Given the description of an element on the screen output the (x, y) to click on. 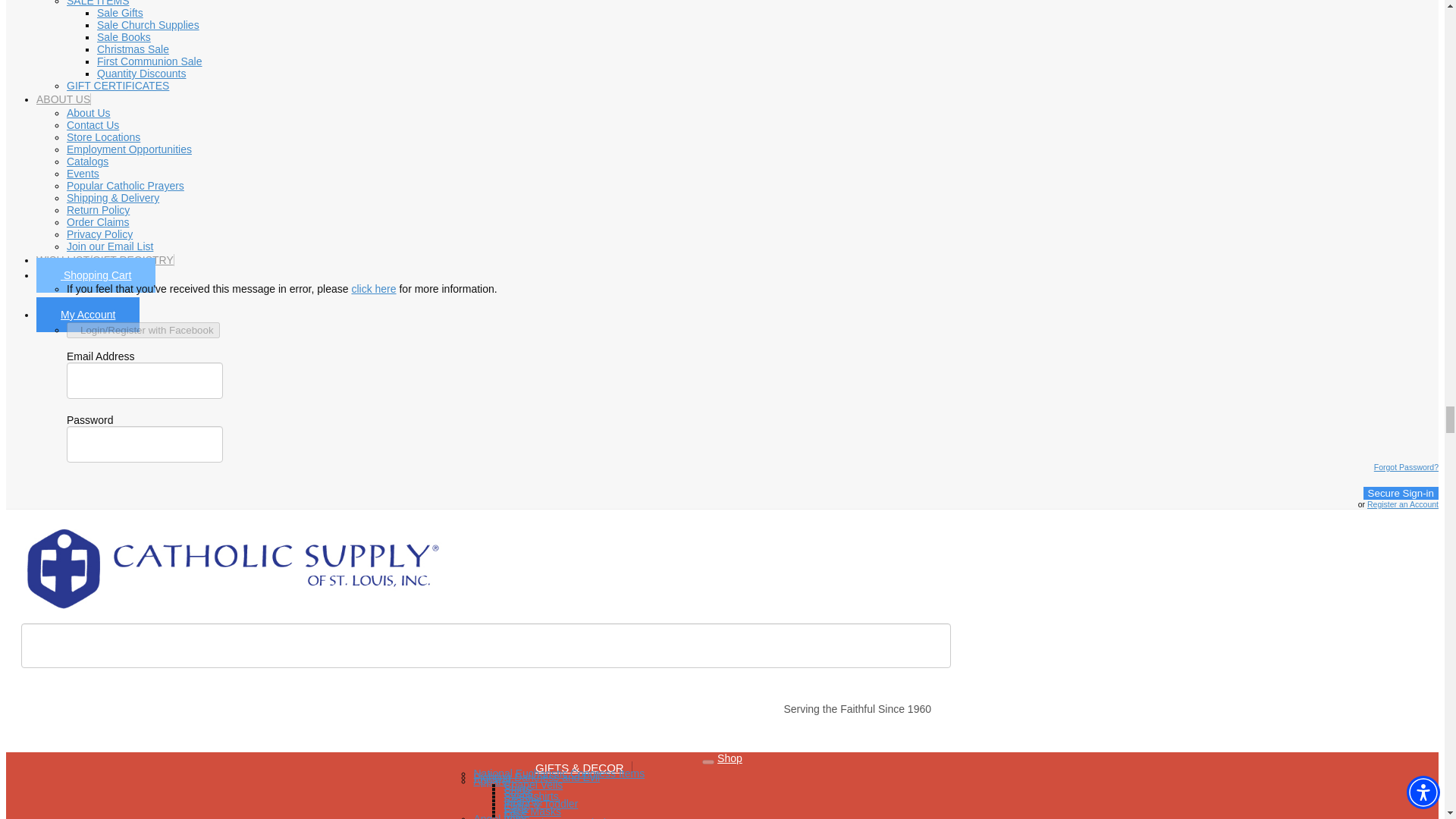
Help with Cookies (373, 288)
